Given the description of an element on the screen output the (x, y) to click on. 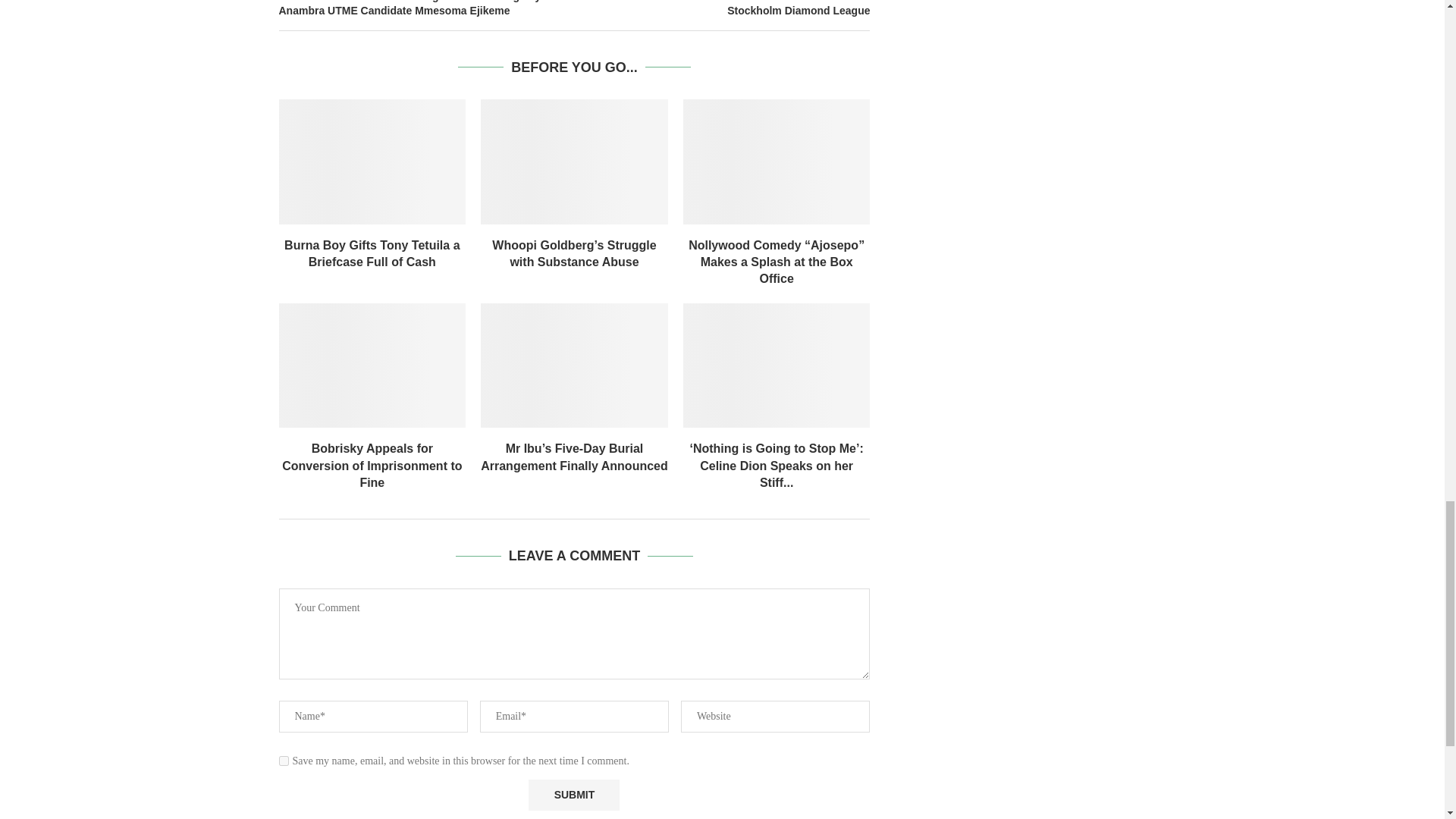
Bobrisky Appeals for Conversion of Imprisonment to Fine (372, 365)
yes (283, 760)
Submit (574, 794)
Burna Boy Gifts Tony Tetuila a Briefcase Full of Cash (372, 161)
